Given the description of an element on the screen output the (x, y) to click on. 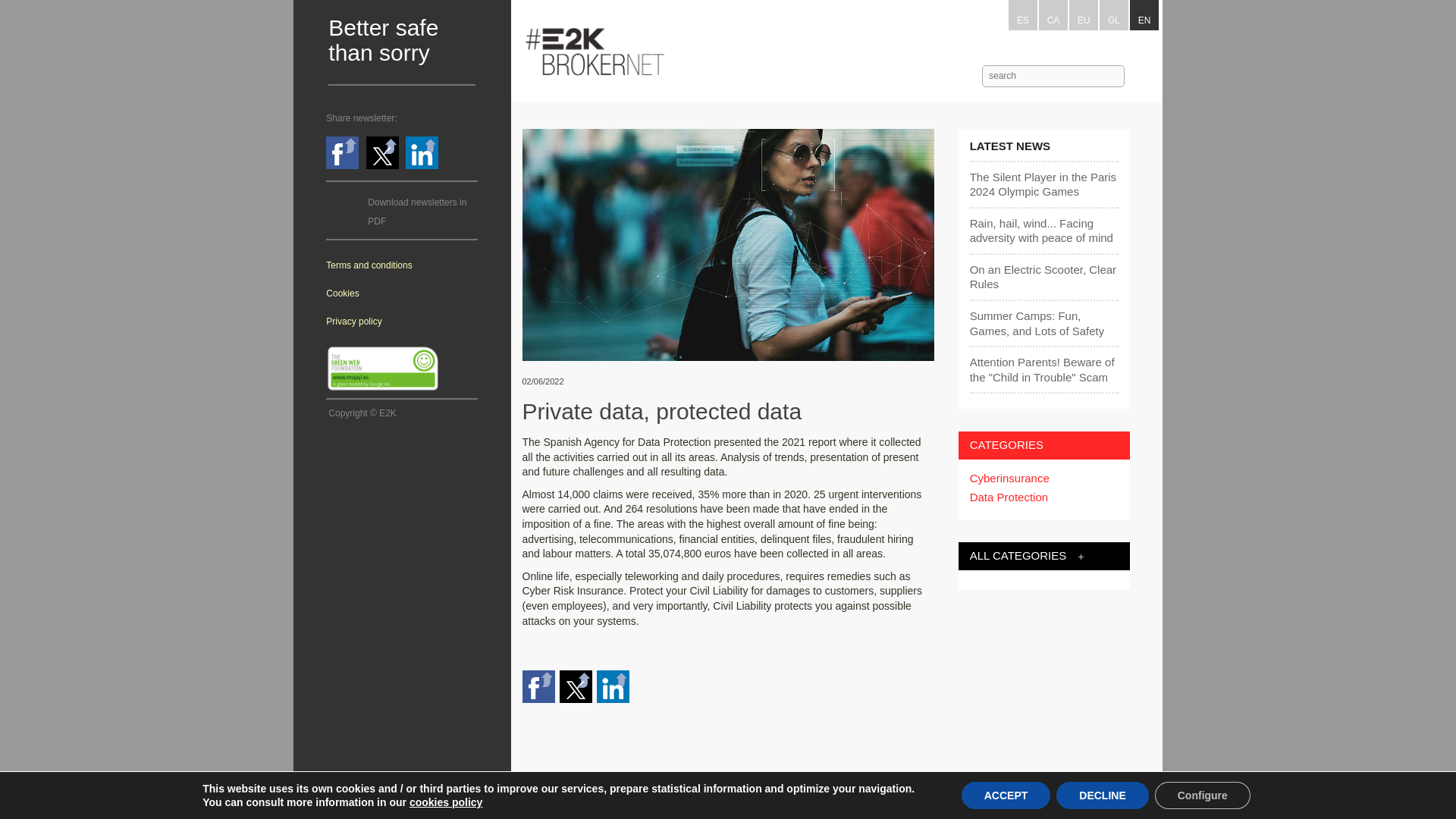
Attention Parents! Beware of the "Child in Trouble" Scam (1043, 369)
The Silent Player in the Paris 2024 Olympic Games (1043, 184)
ES (1022, 15)
CA (1053, 15)
Rain, hail, wind... Facing adversity with peace of mind (1043, 230)
GL (1113, 15)
Summer Camps: Fun, Games, and Lots of Safety (1043, 323)
EU (1082, 15)
Cyberinsurance (1043, 478)
On an Electric Scooter, Clear Rules (1043, 276)
Data Protection (1043, 497)
EN (1143, 15)
